Given the description of an element on the screen output the (x, y) to click on. 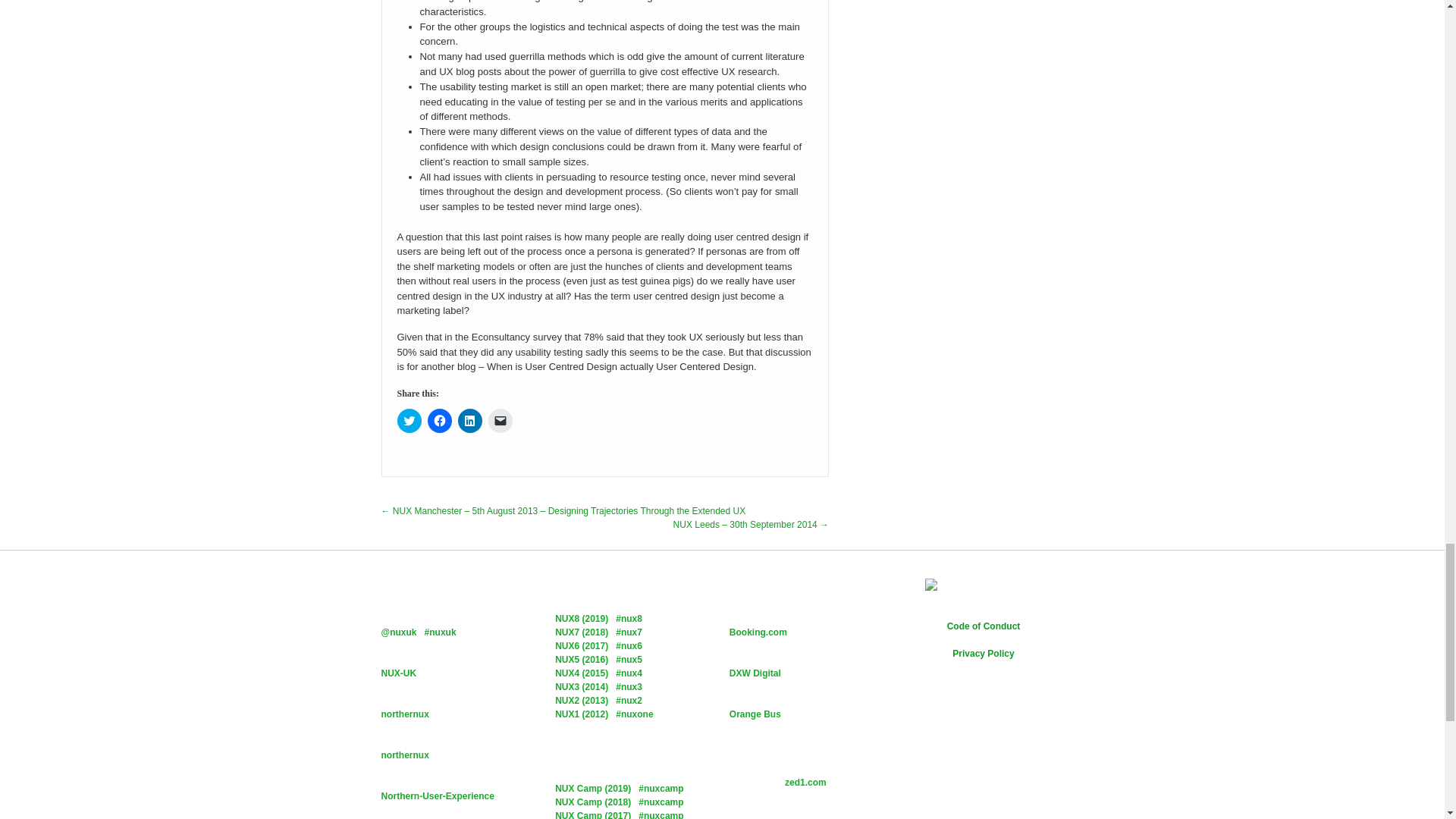
Click to share on Twitter (409, 420)
Click to share on LinkedIn (469, 420)
Click to share on Facebook (439, 420)
Click to email a link to a friend (499, 420)
